Given the description of an element on the screen output the (x, y) to click on. 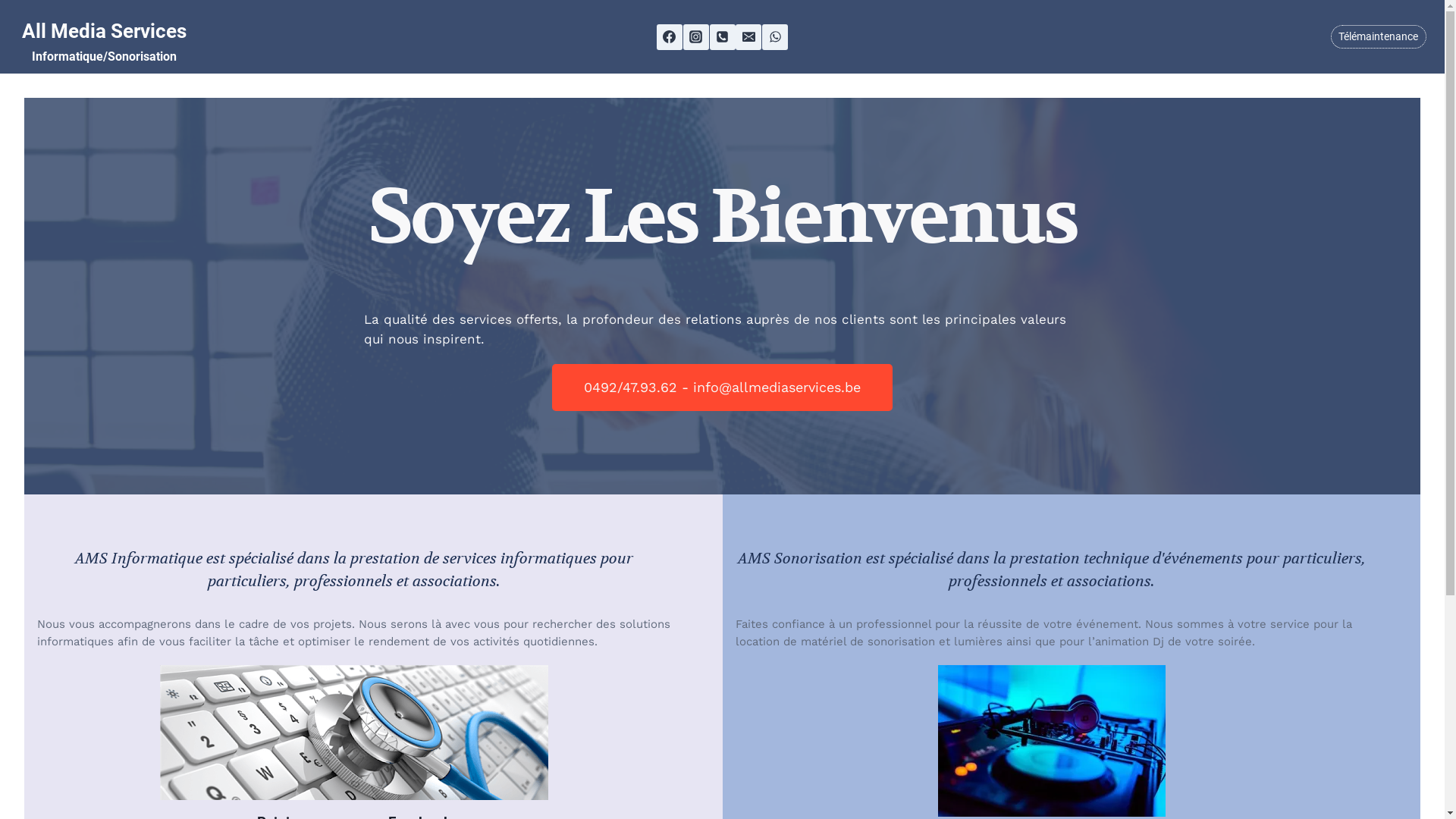
0492/47.93.62 - info@allmediaservices.be Element type: text (722, 387)
All Media Services
Informatique/Sonorisation Element type: text (103, 42)
